Given the description of an element on the screen output the (x, y) to click on. 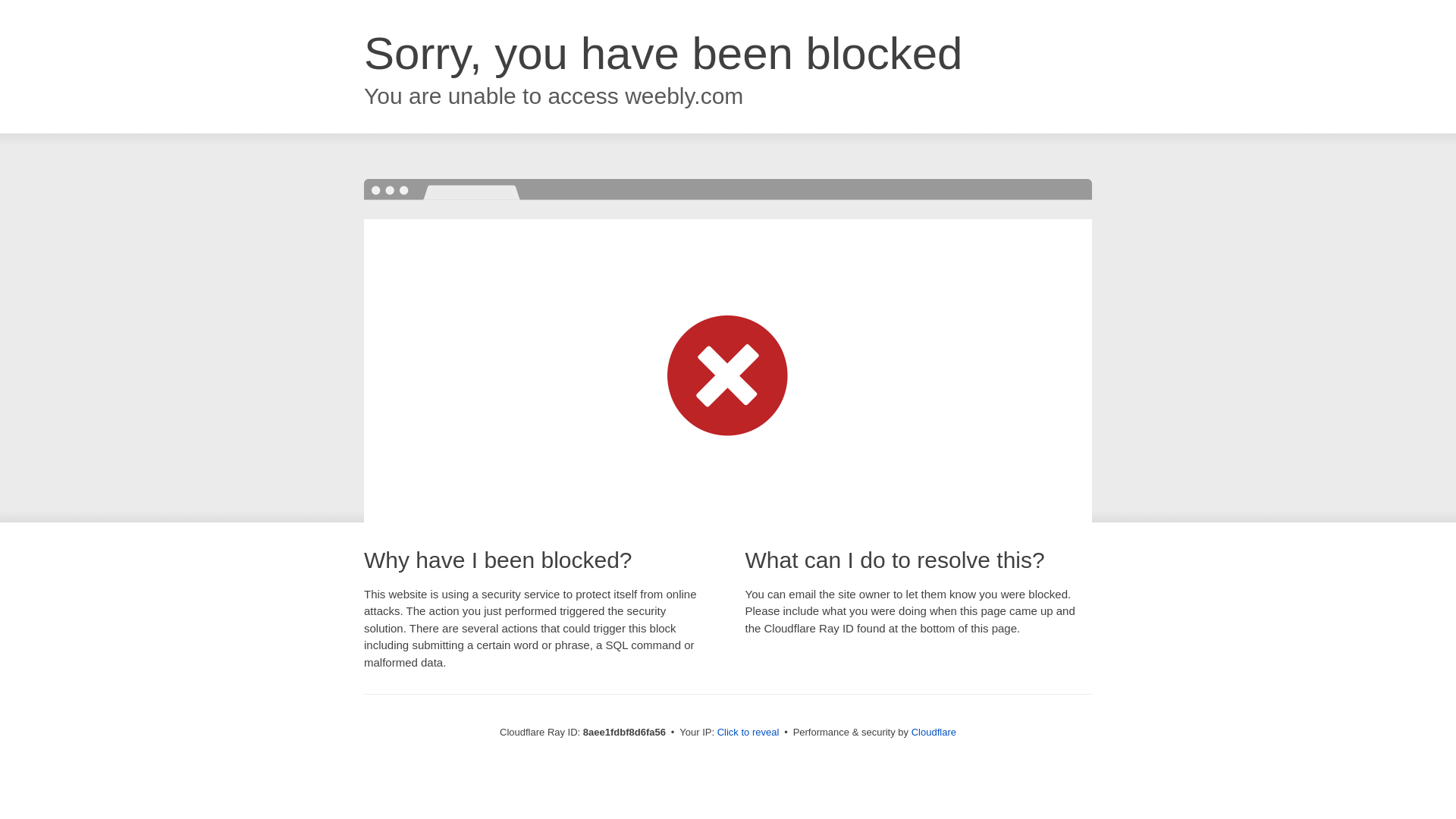
Cloudflare (933, 731)
Click to reveal (747, 732)
